Given the description of an element on the screen output the (x, y) to click on. 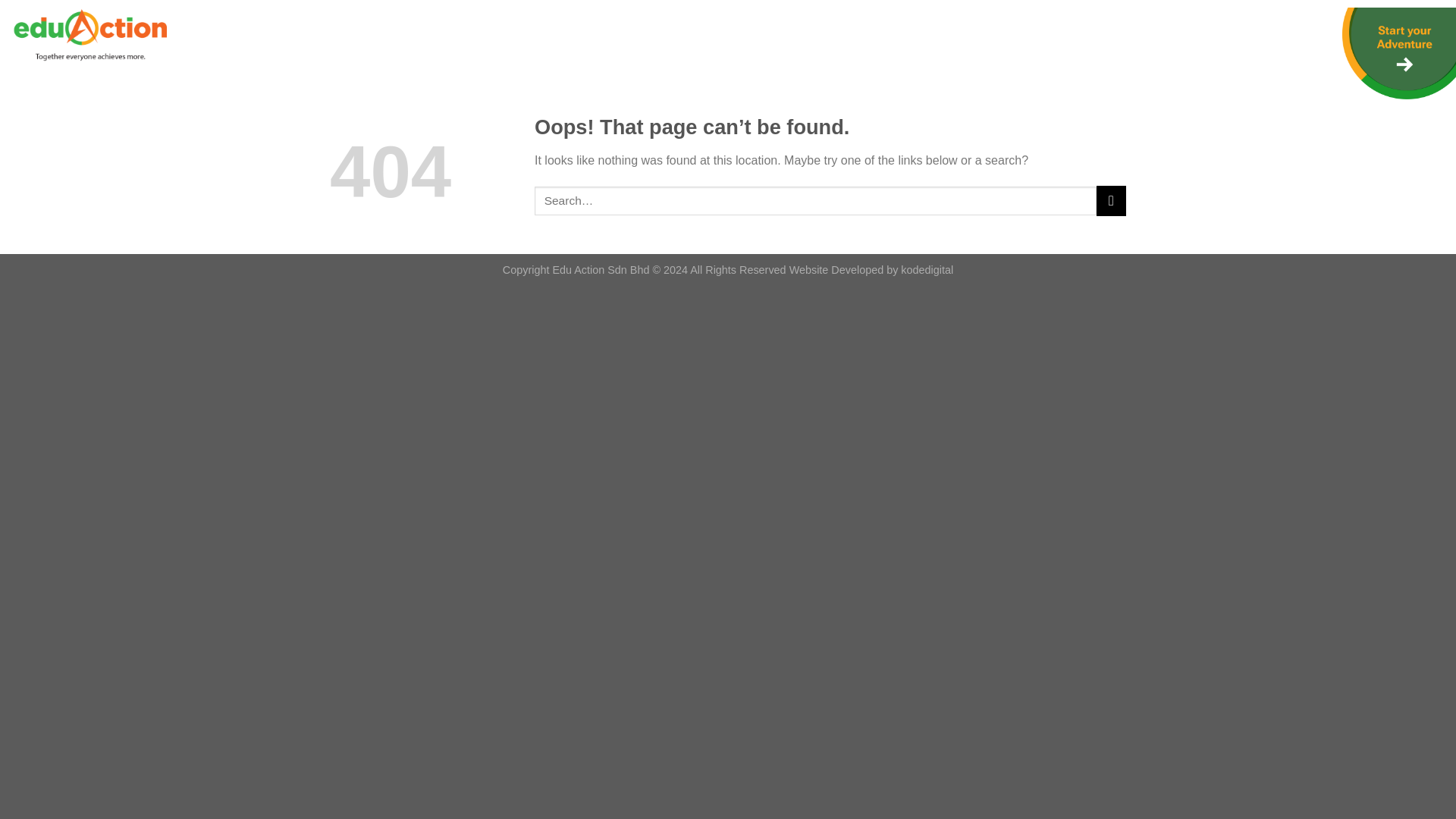
Website Developed by kodedigital (871, 269)
Kode Digital Sdn Bhd (871, 269)
Team Building (235, 33)
EduAction - Together everyone achieves more (87, 34)
Contact Us (314, 33)
